Given the description of an element on the screen output the (x, y) to click on. 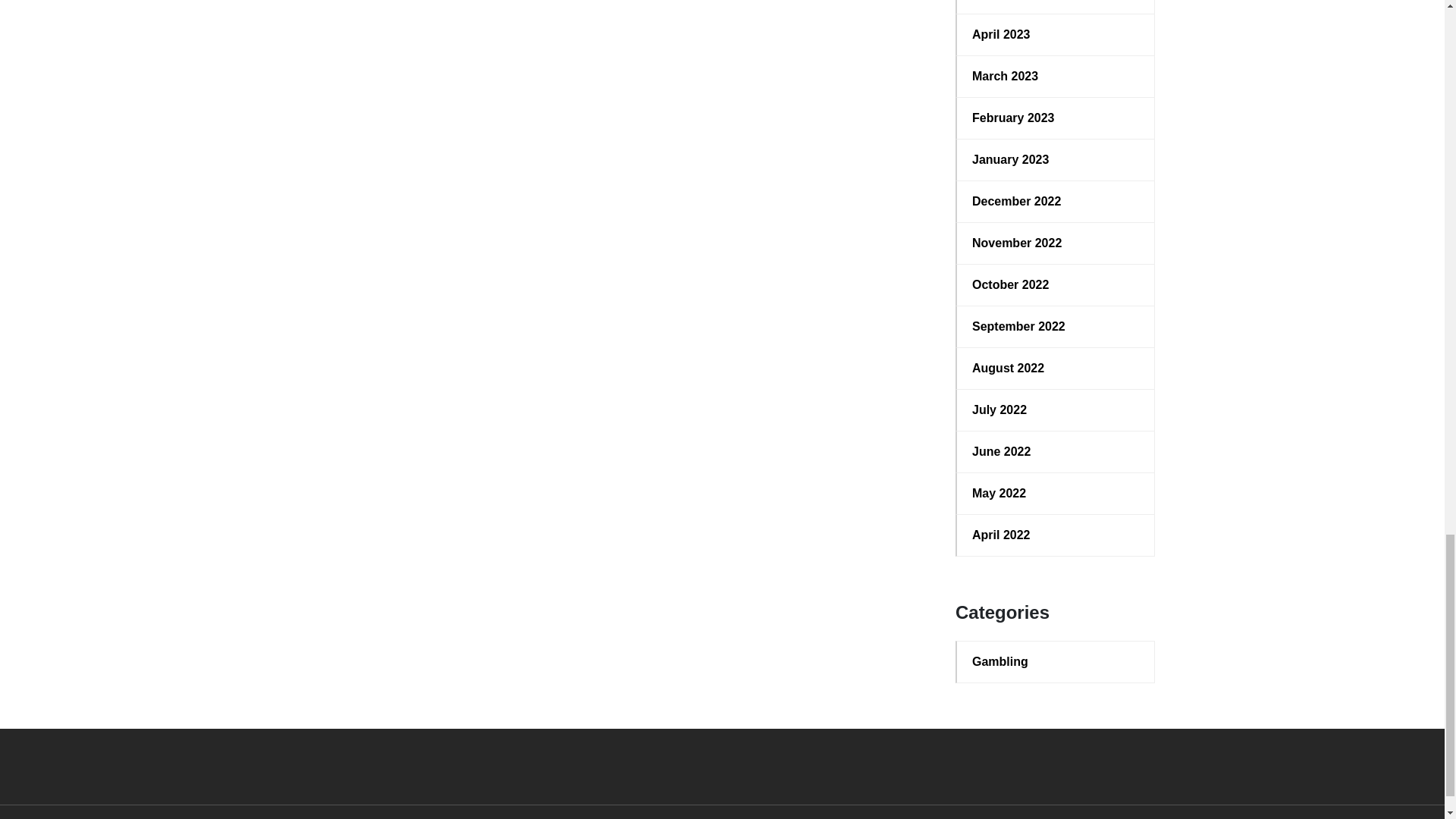
November 2022 (1055, 243)
August 2022 (1055, 368)
October 2022 (1055, 285)
July 2022 (1055, 410)
September 2022 (1055, 326)
March 2023 (1055, 76)
May 2023 (1055, 1)
February 2023 (1055, 117)
April 2023 (1055, 34)
December 2022 (1055, 201)
January 2023 (1055, 159)
